Given the description of an element on the screen output the (x, y) to click on. 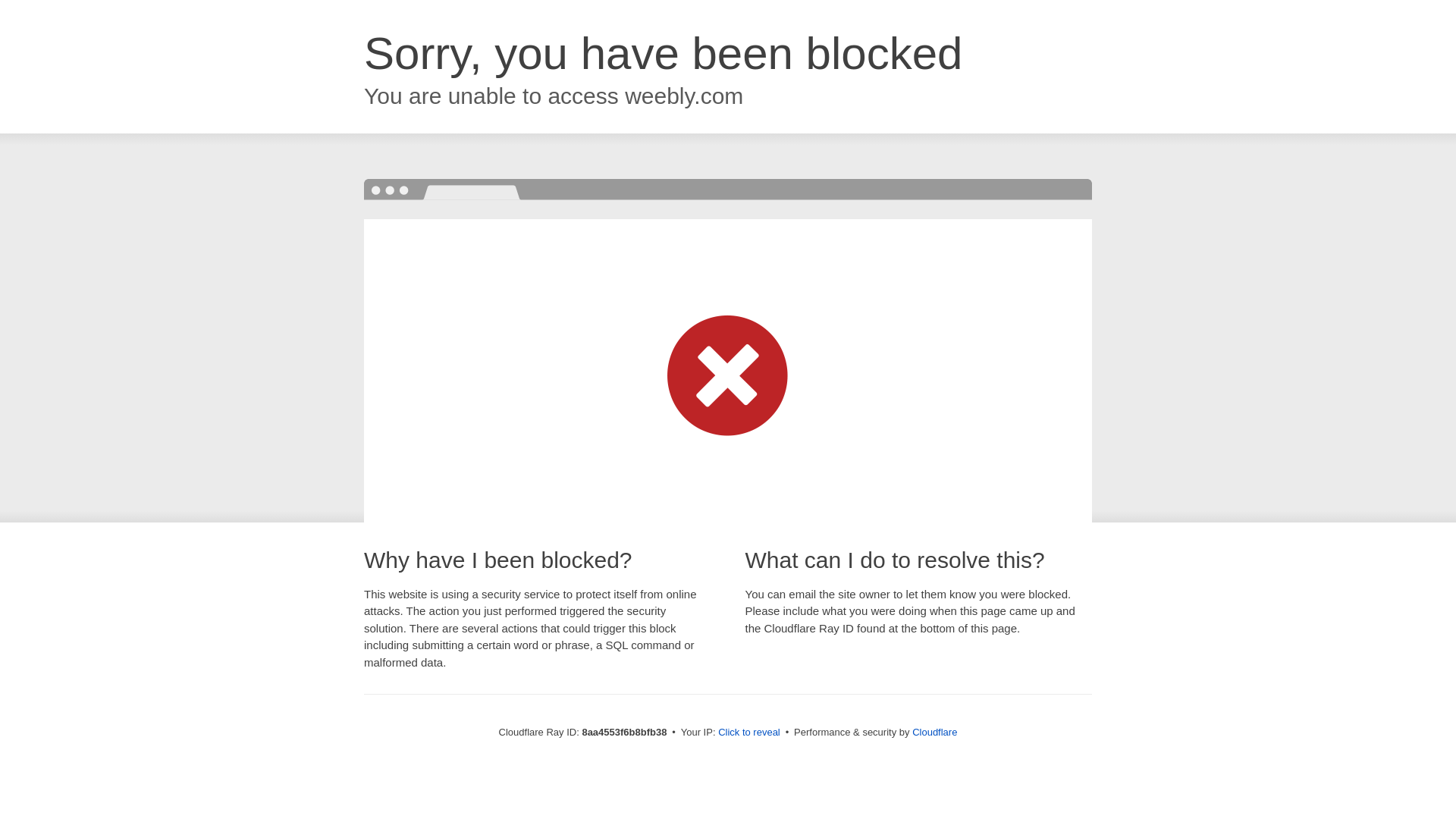
Click to reveal (748, 732)
Cloudflare (934, 731)
